Given the description of an element on the screen output the (x, y) to click on. 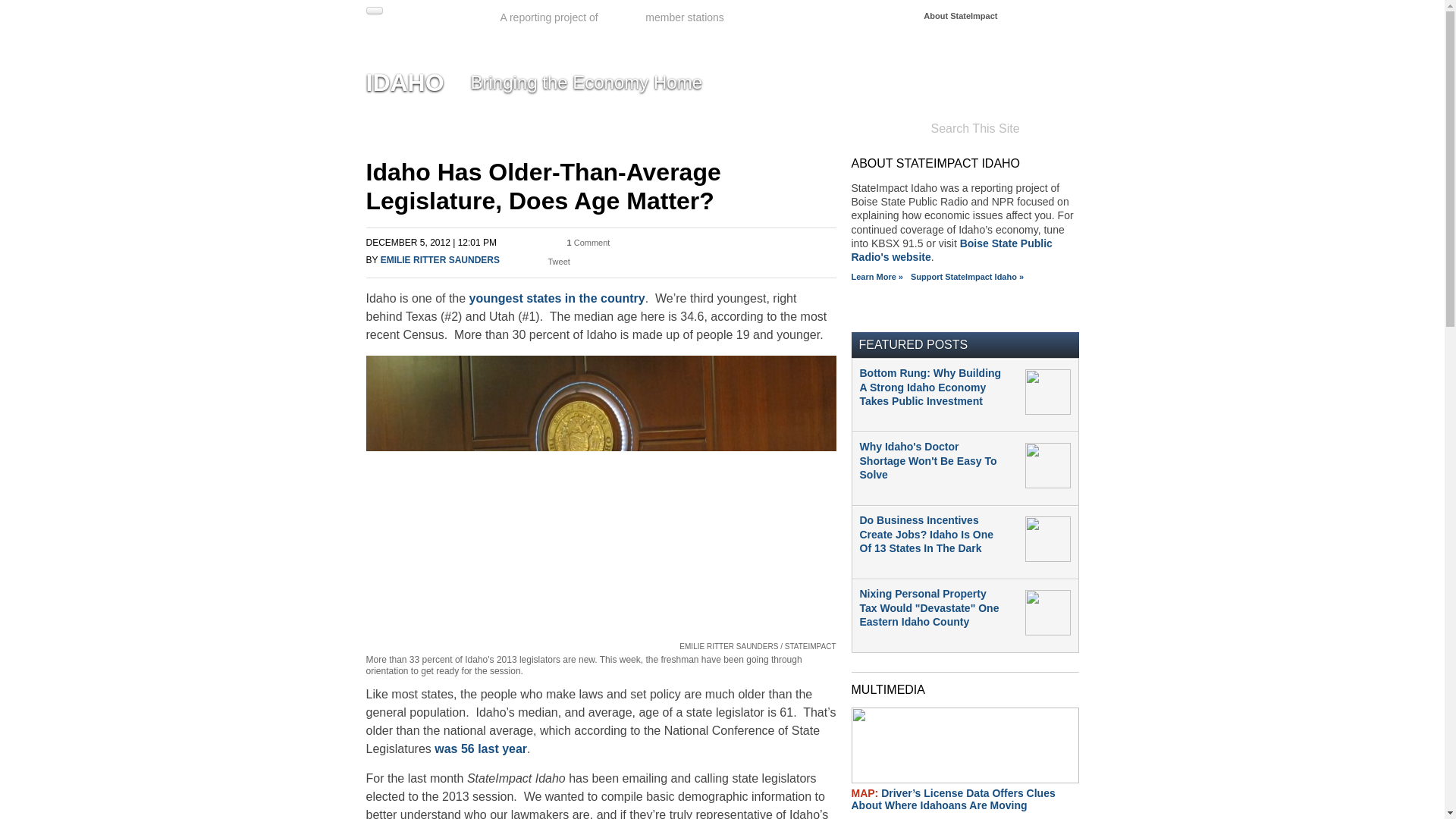
Visit npr.org (623, 17)
About StateImpact (960, 15)
StateImpact (422, 22)
Subscribe with RSS (863, 302)
IDAHO (404, 82)
NPR (623, 17)
Other states (1044, 15)
Posts by Emilie Ritter Saunders (439, 259)
StateImpact (422, 22)
Idaho (404, 82)
